Given the description of an element on the screen output the (x, y) to click on. 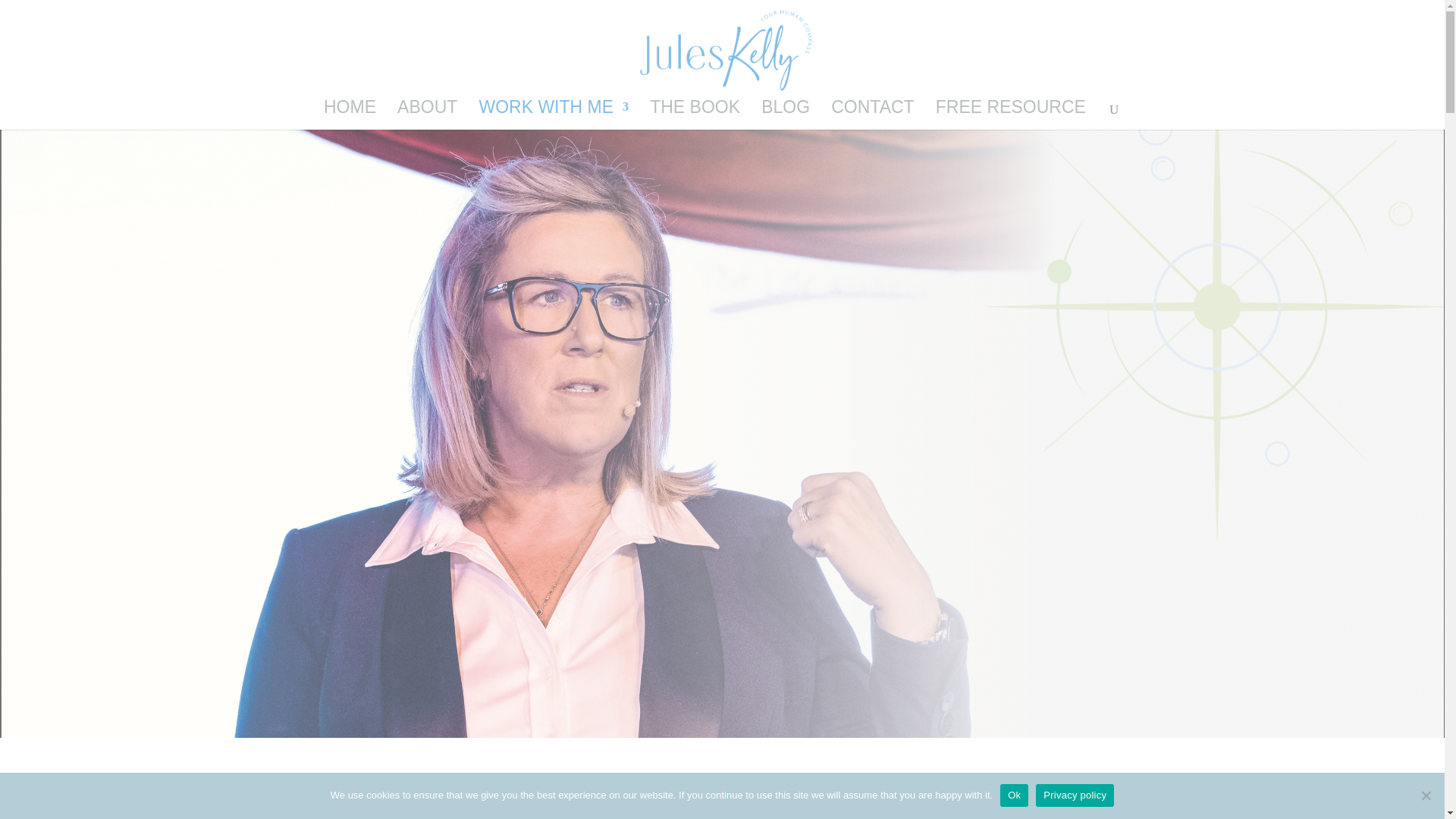
CONTACT (872, 115)
HOME (349, 115)
ABOUT (427, 115)
FREE RESOURCE (1011, 115)
WORK WITH ME (553, 115)
BLOG (785, 115)
THE BOOK (694, 115)
